Given the description of an element on the screen output the (x, y) to click on. 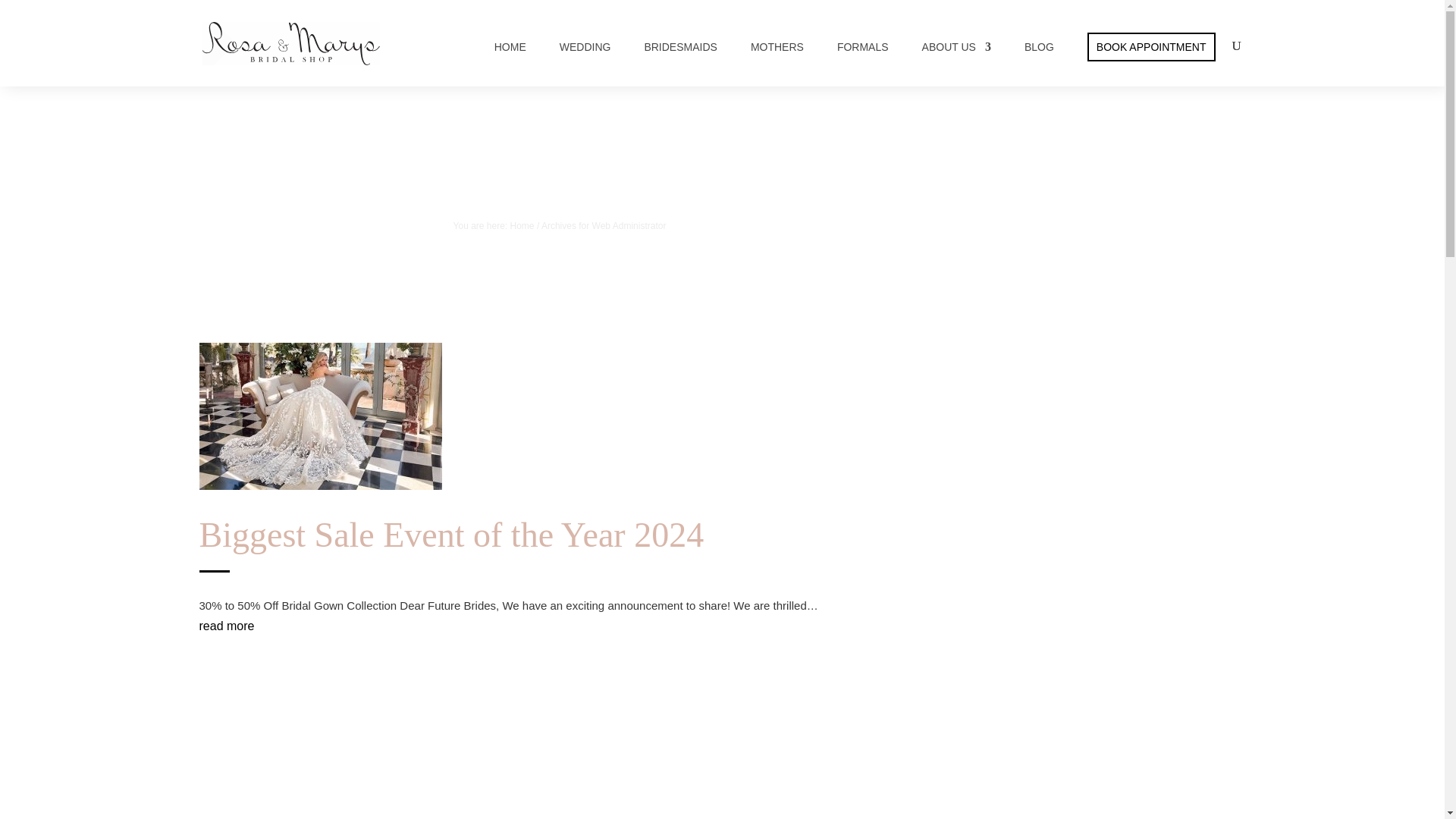
BOOK APPOINTMENT (1151, 46)
Biggest Sale Event of the Year 2024 (450, 534)
Home (522, 225)
BRIDESMAIDS (679, 46)
read more (225, 625)
